Given the description of an element on the screen output the (x, y) to click on. 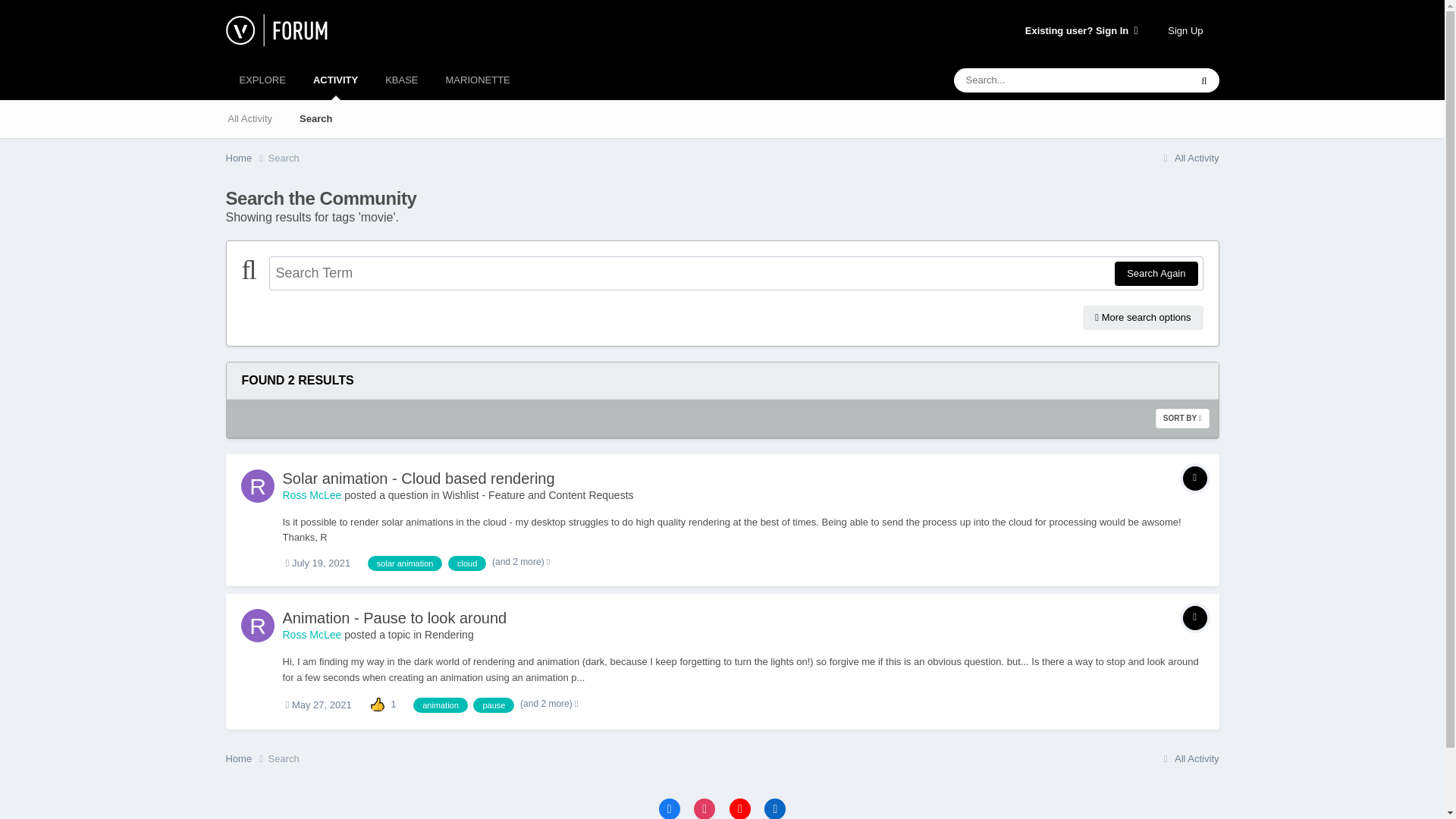
All Activity (1188, 157)
Home (246, 158)
Existing user? Sign In   (1081, 30)
Find other content tagged with 'solar animation' (405, 563)
Go to Ross McLee's profile (258, 485)
Topic (1194, 478)
All Activity (249, 118)
Home (246, 158)
Topic (1194, 617)
Go to Ross McLee's profile (311, 634)
